Given the description of an element on the screen output the (x, y) to click on. 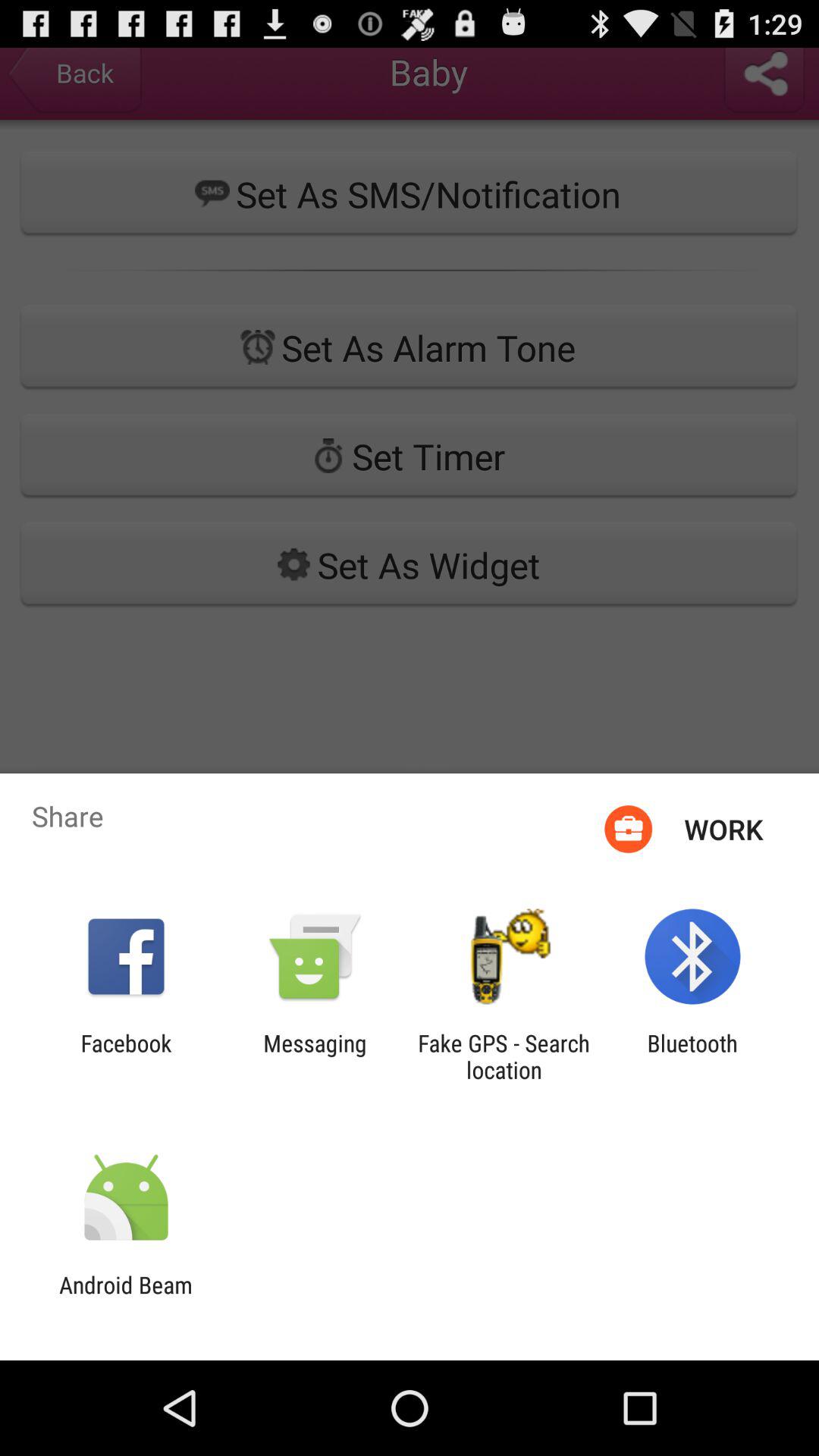
turn on app next to bluetooth icon (503, 1056)
